Given the description of an element on the screen output the (x, y) to click on. 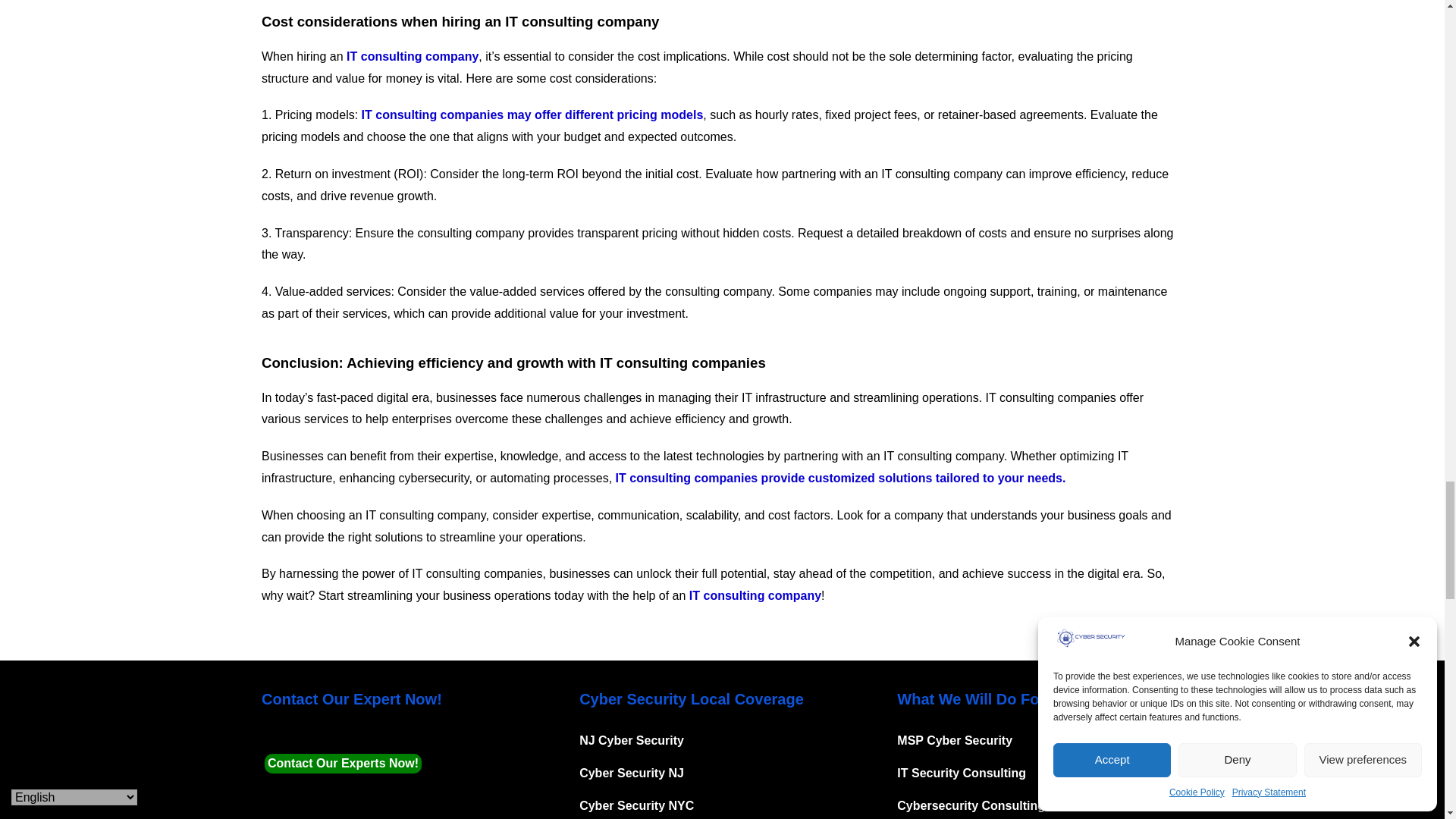
Contact Our Experts Now! (343, 763)
